Given the description of an element on the screen output the (x, y) to click on. 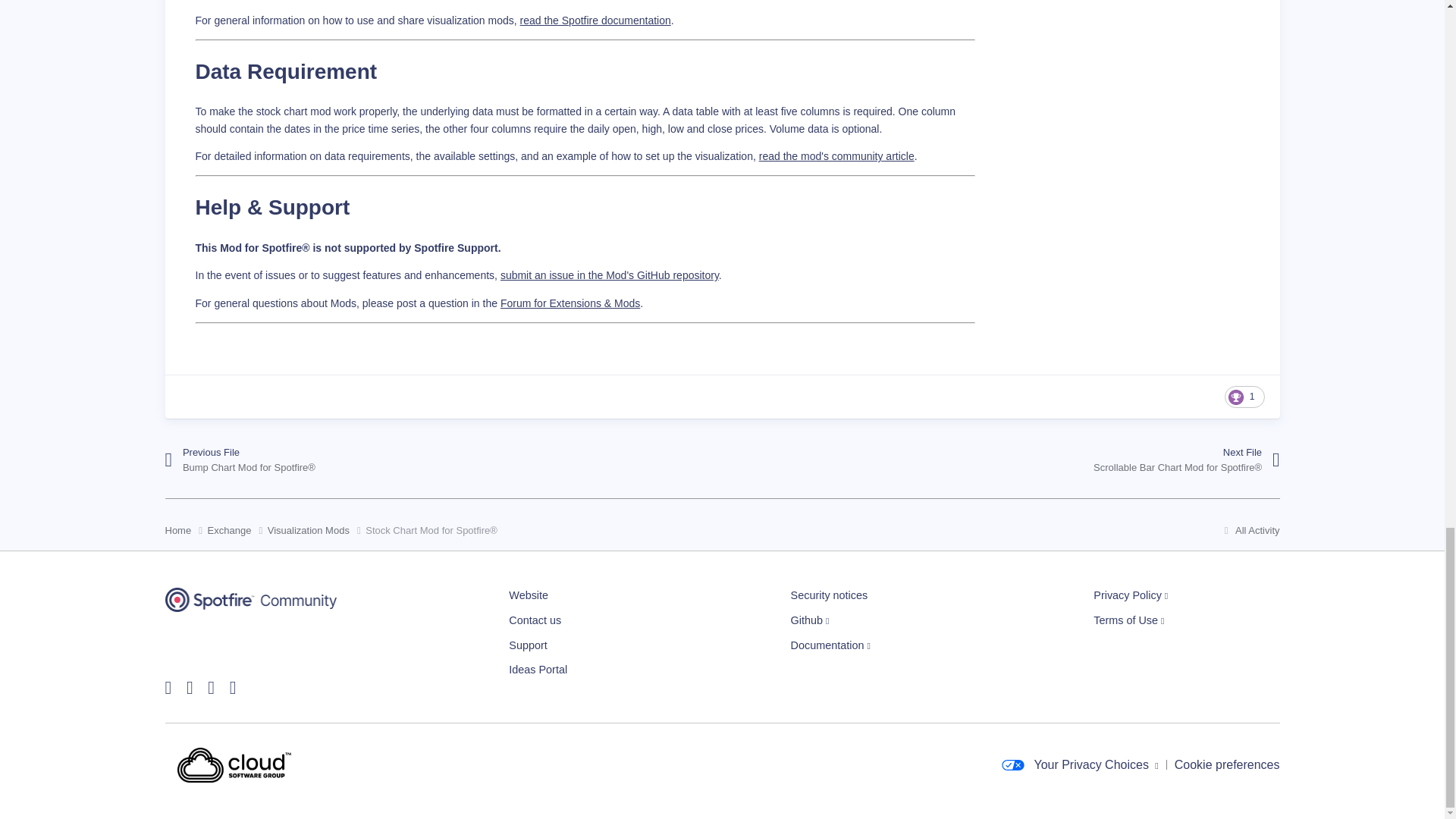
Thanks (1243, 396)
